Given the description of an element on the screen output the (x, y) to click on. 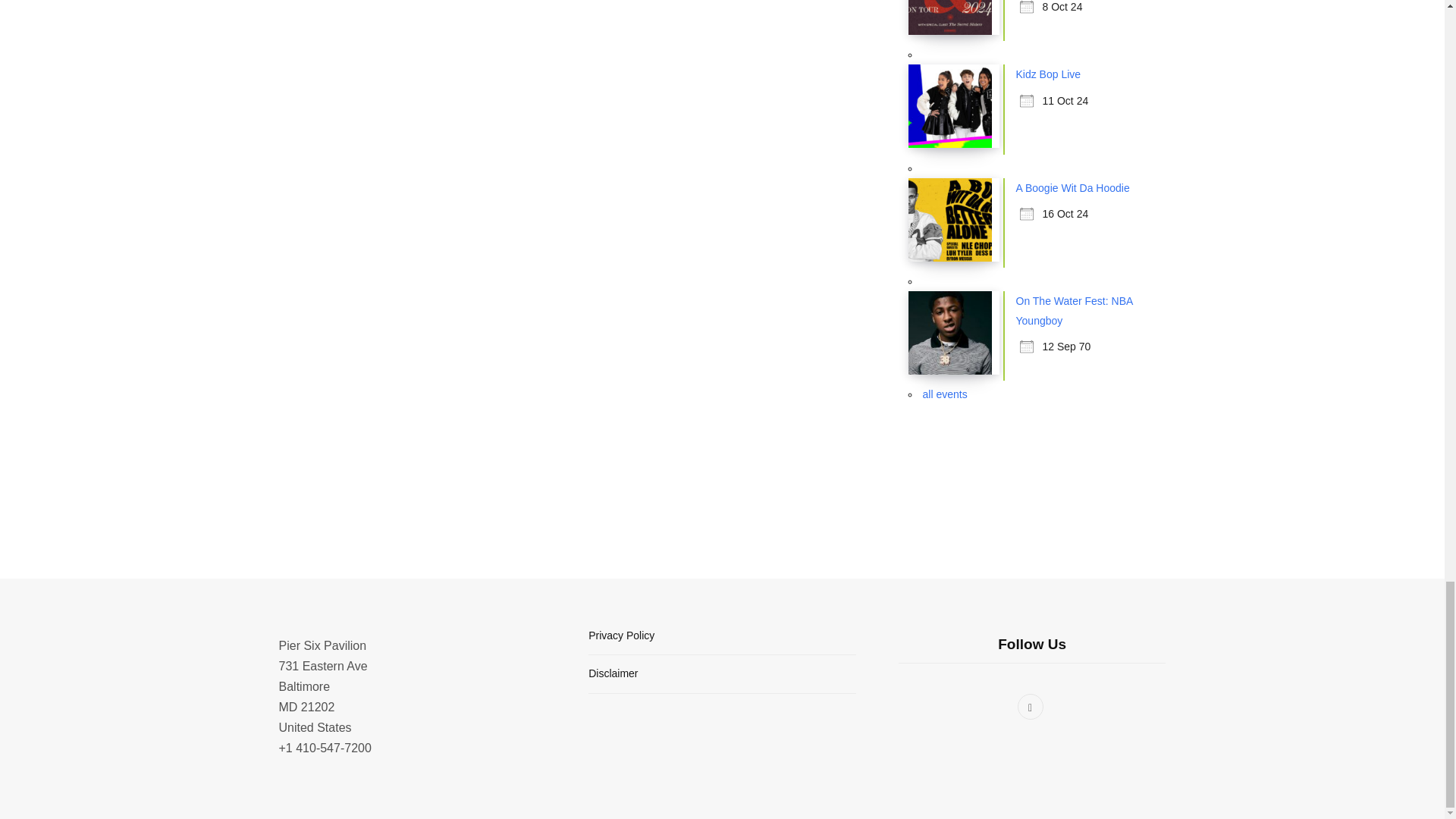
all events (943, 394)
Disclaimer (612, 673)
A Boogie Wit Da Hoodie (1072, 187)
Privacy Policy (620, 635)
Kidz Bop Live (1048, 73)
On The Water Fest: NBA Youngboy (1074, 310)
